Given the description of an element on the screen output the (x, y) to click on. 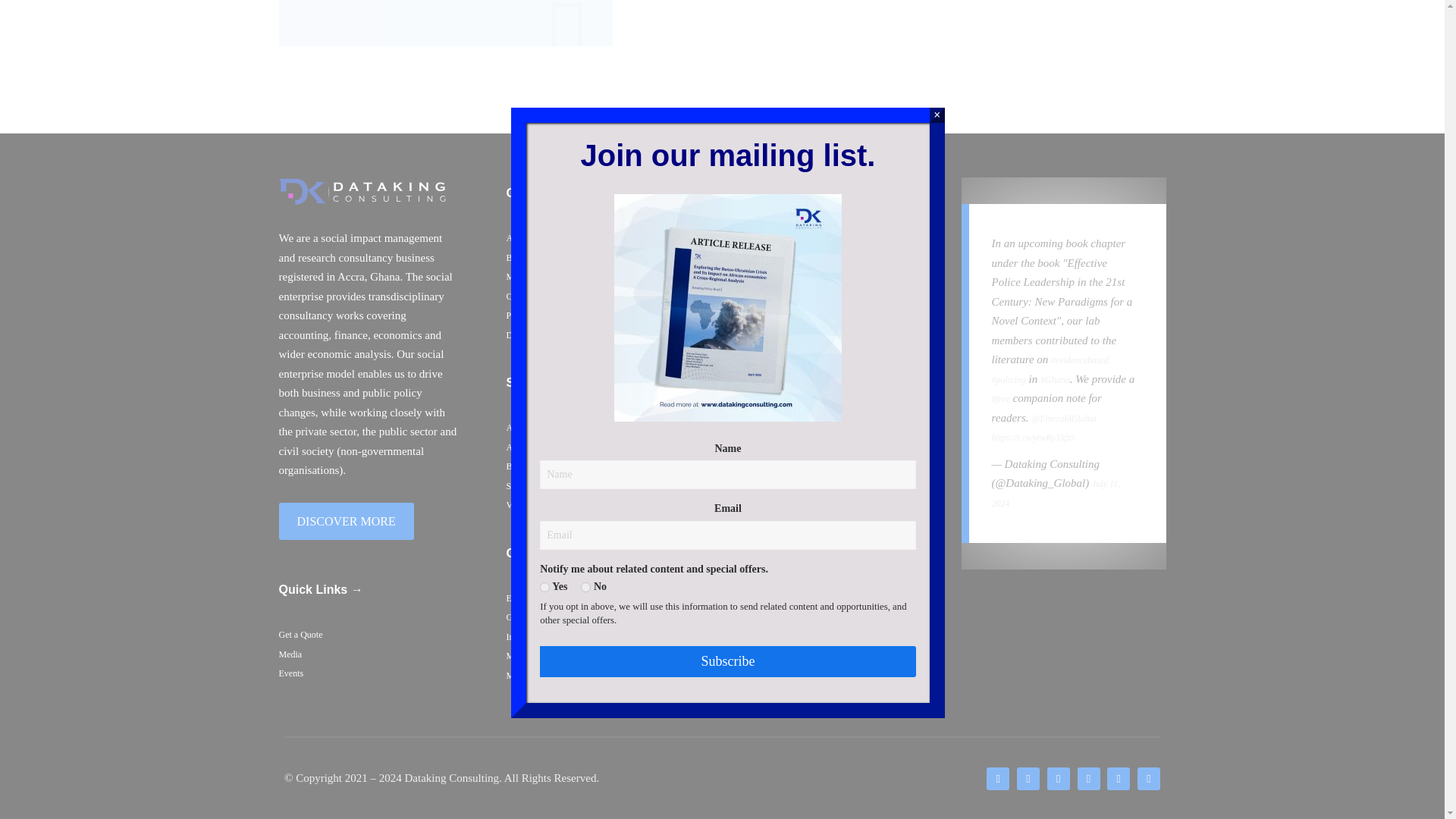
yes (545, 85)
no (585, 85)
